Given the description of an element on the screen output the (x, y) to click on. 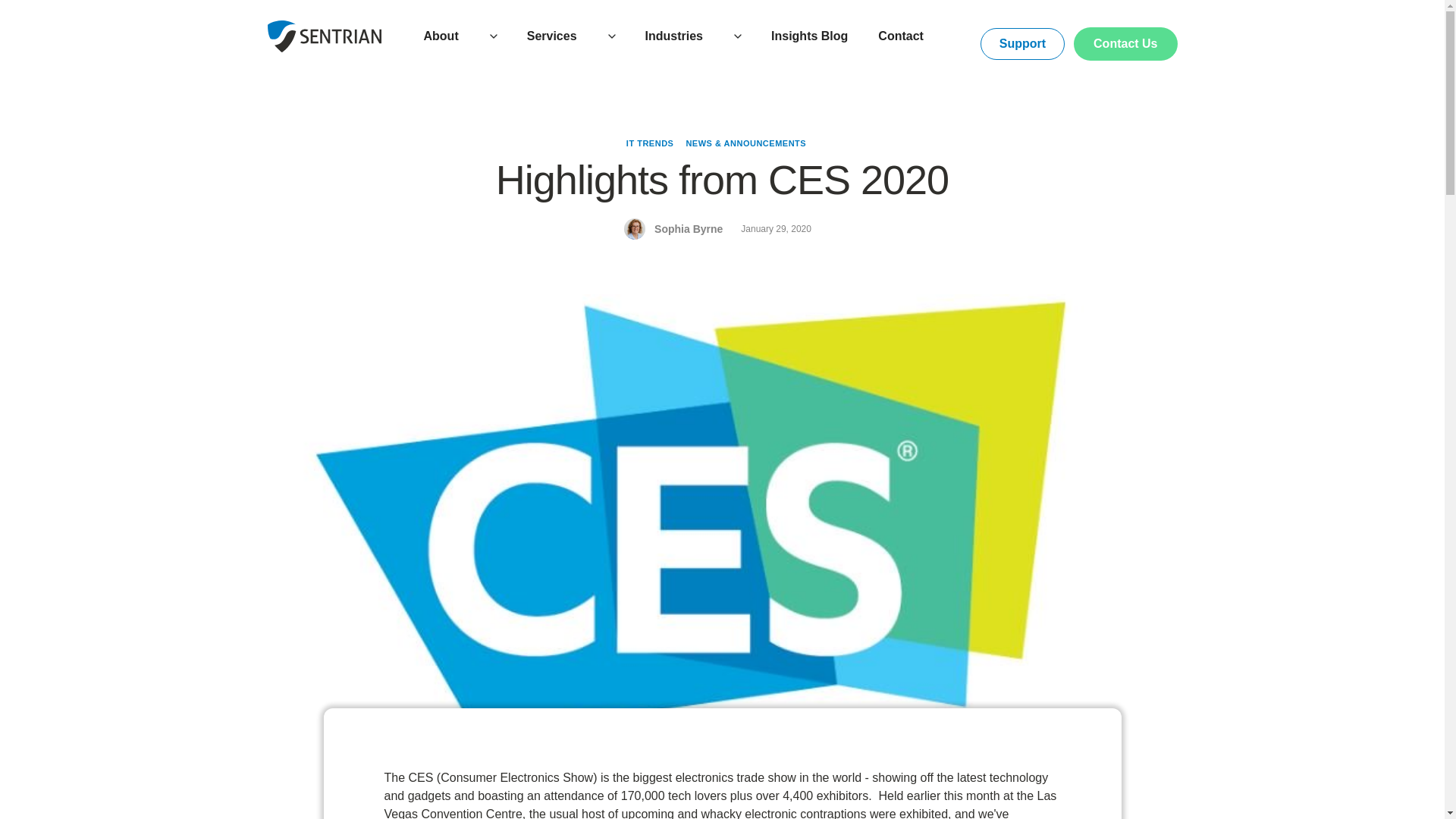
IT TRENDS (650, 143)
Insights Blog (809, 36)
Contact Us (1125, 43)
Sophia Byrne (687, 228)
Support (1021, 43)
Contact (901, 36)
